Given the description of an element on the screen output the (x, y) to click on. 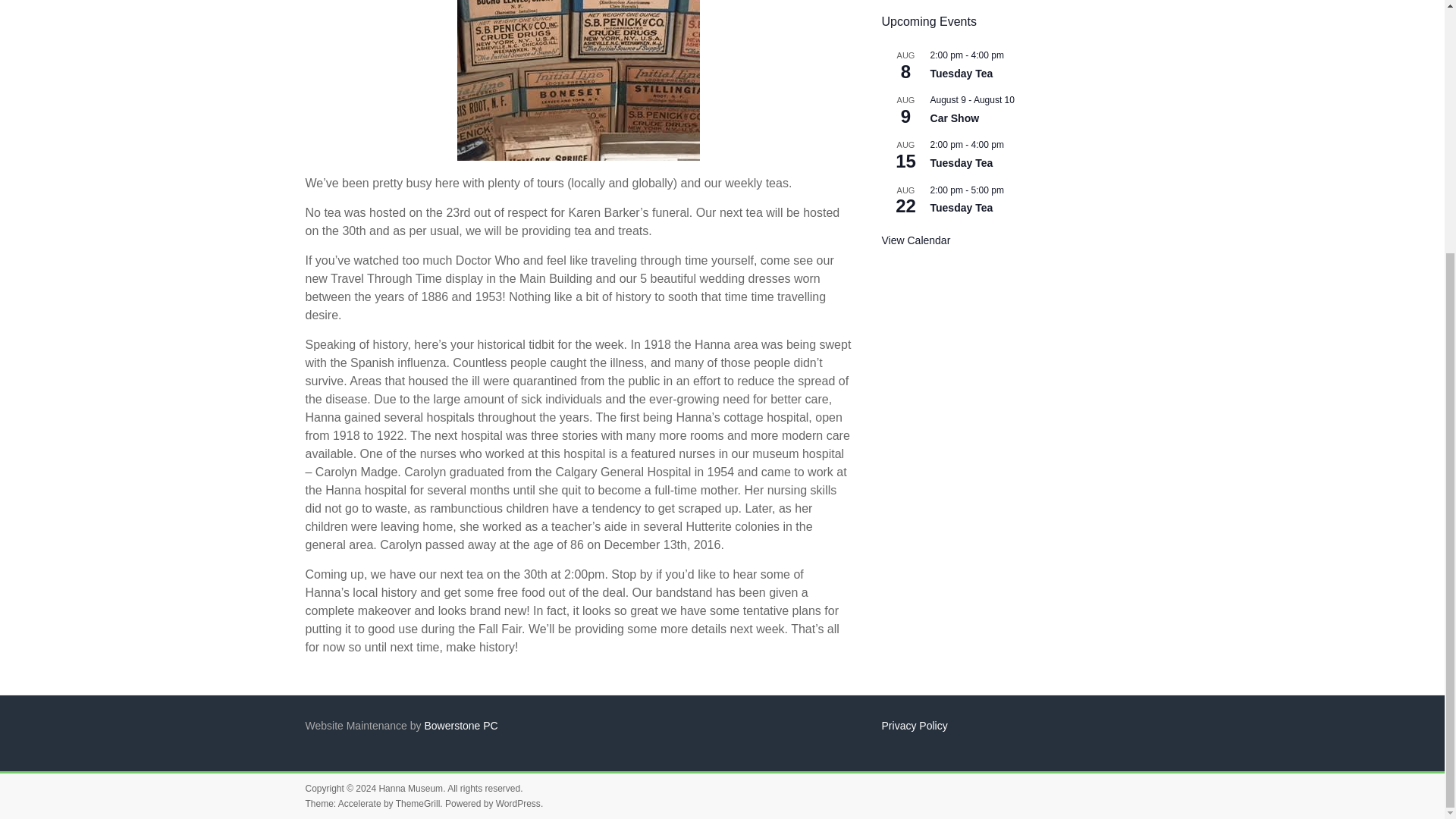
Tuesday Tea (961, 73)
Hanna Museum (410, 787)
WordPress (518, 803)
Car Show (954, 118)
Tuesday Tea (961, 207)
Nursing Those Wounds (577, 80)
View more events. (916, 240)
Tuesday Tea (961, 163)
Accelerate (359, 803)
